Given the description of an element on the screen output the (x, y) to click on. 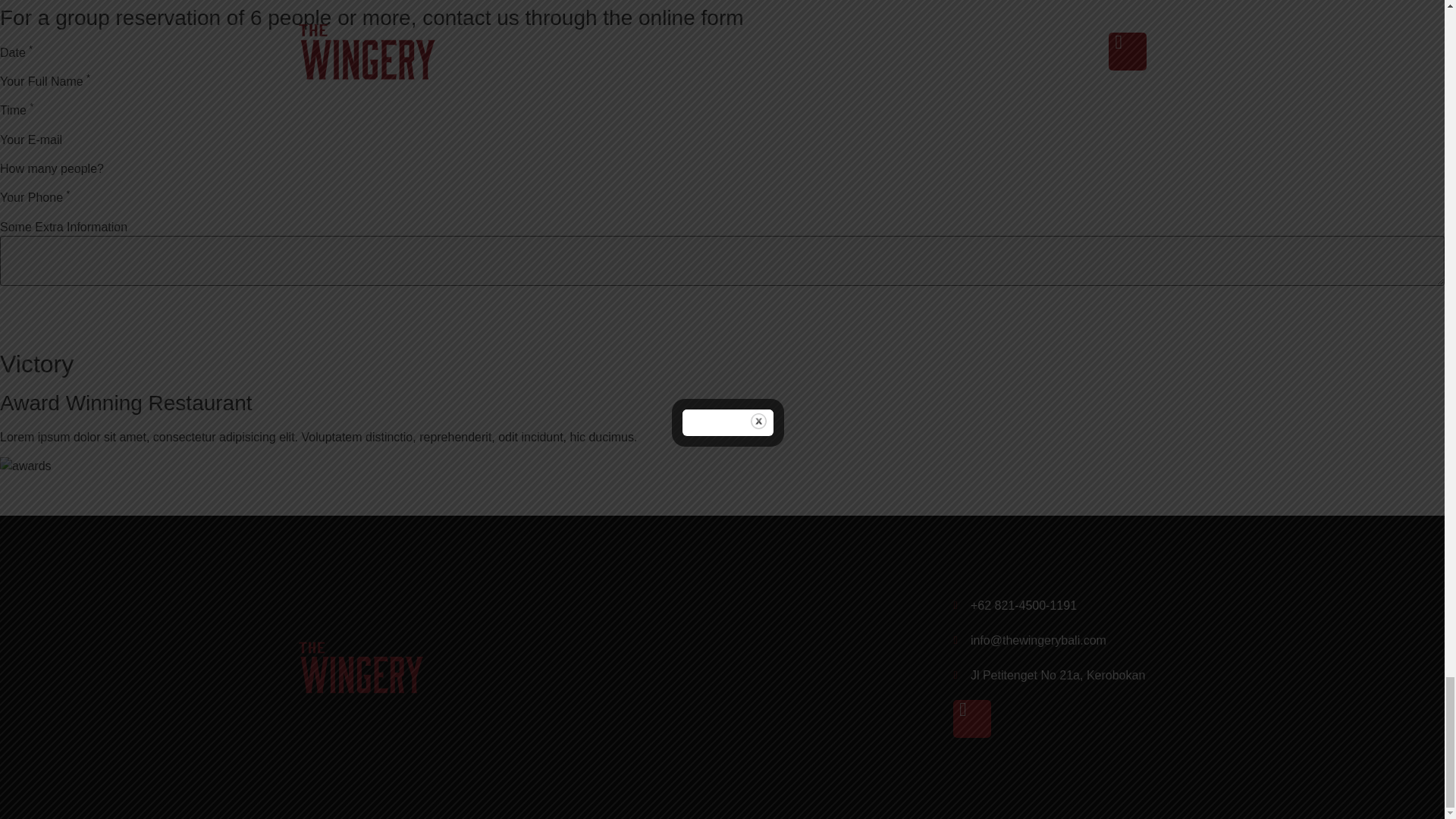
Jl Petitenget No 21a, Kerobokan (1049, 675)
